Given the description of an element on the screen output the (x, y) to click on. 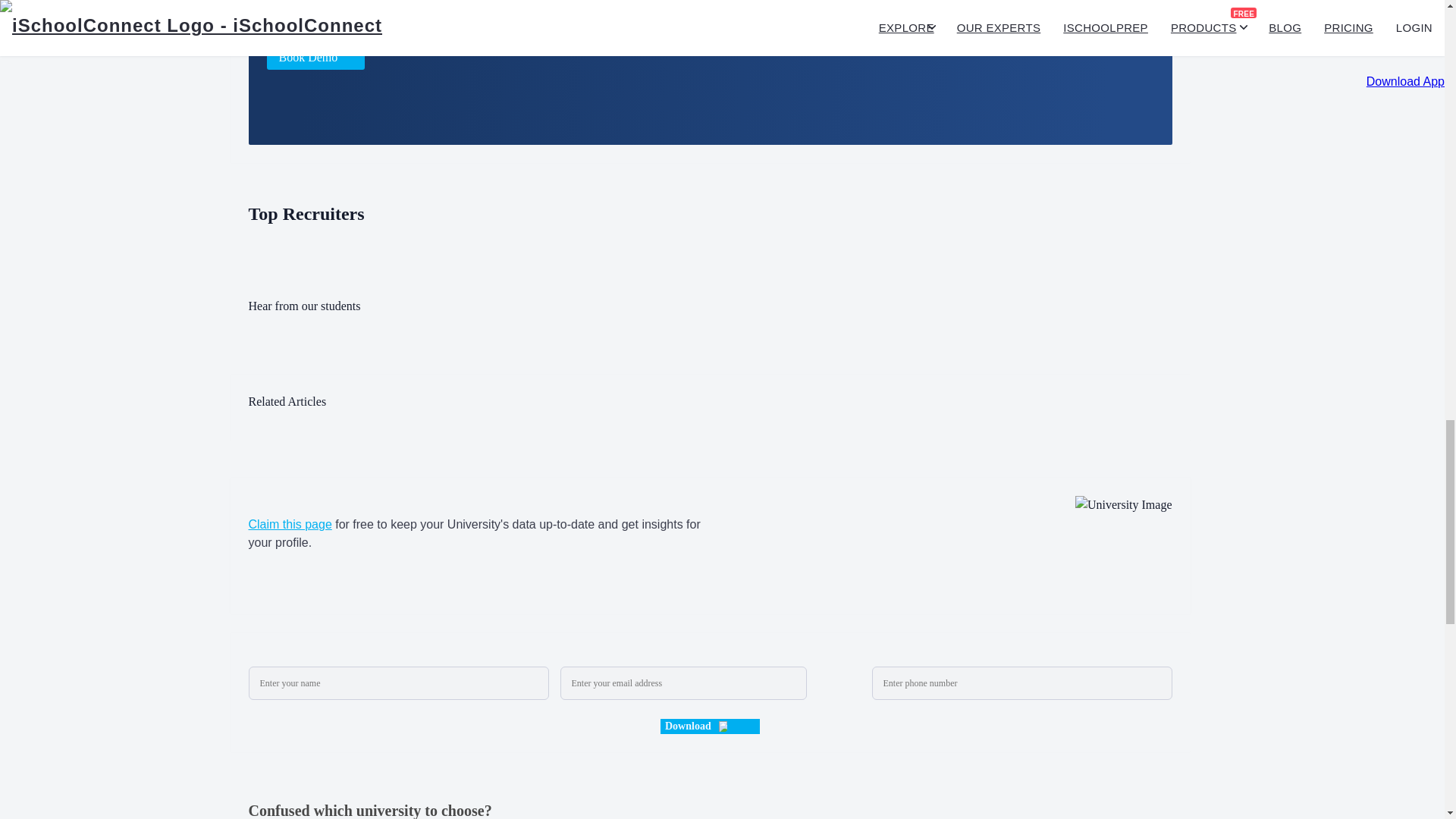
Claim this page (289, 523)
Book Demo (315, 57)
Download (710, 726)
